Given the description of an element on the screen output the (x, y) to click on. 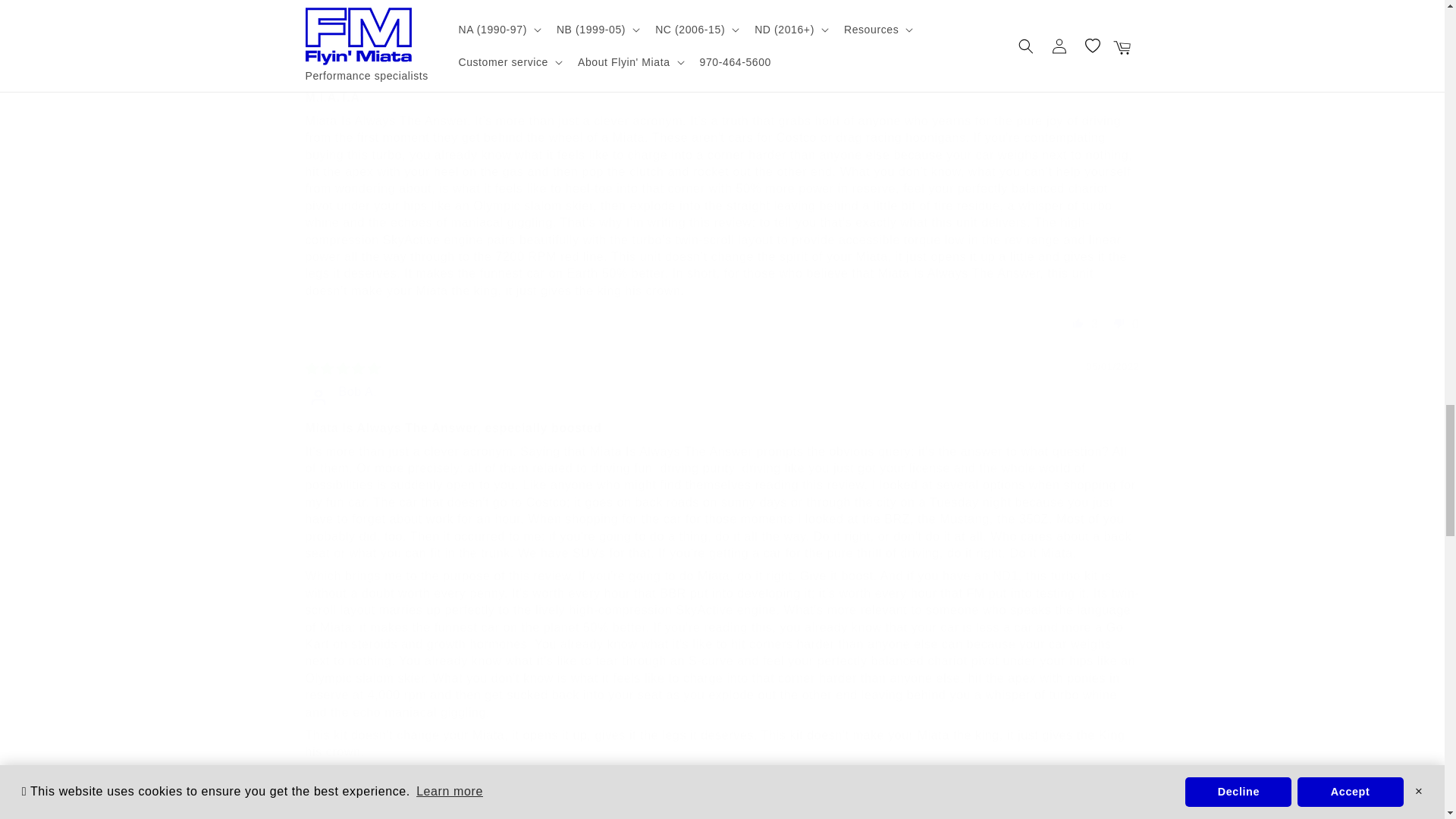
up (1077, 784)
down (1119, 323)
up (1077, 323)
down (1119, 784)
